Given the description of an element on the screen output the (x, y) to click on. 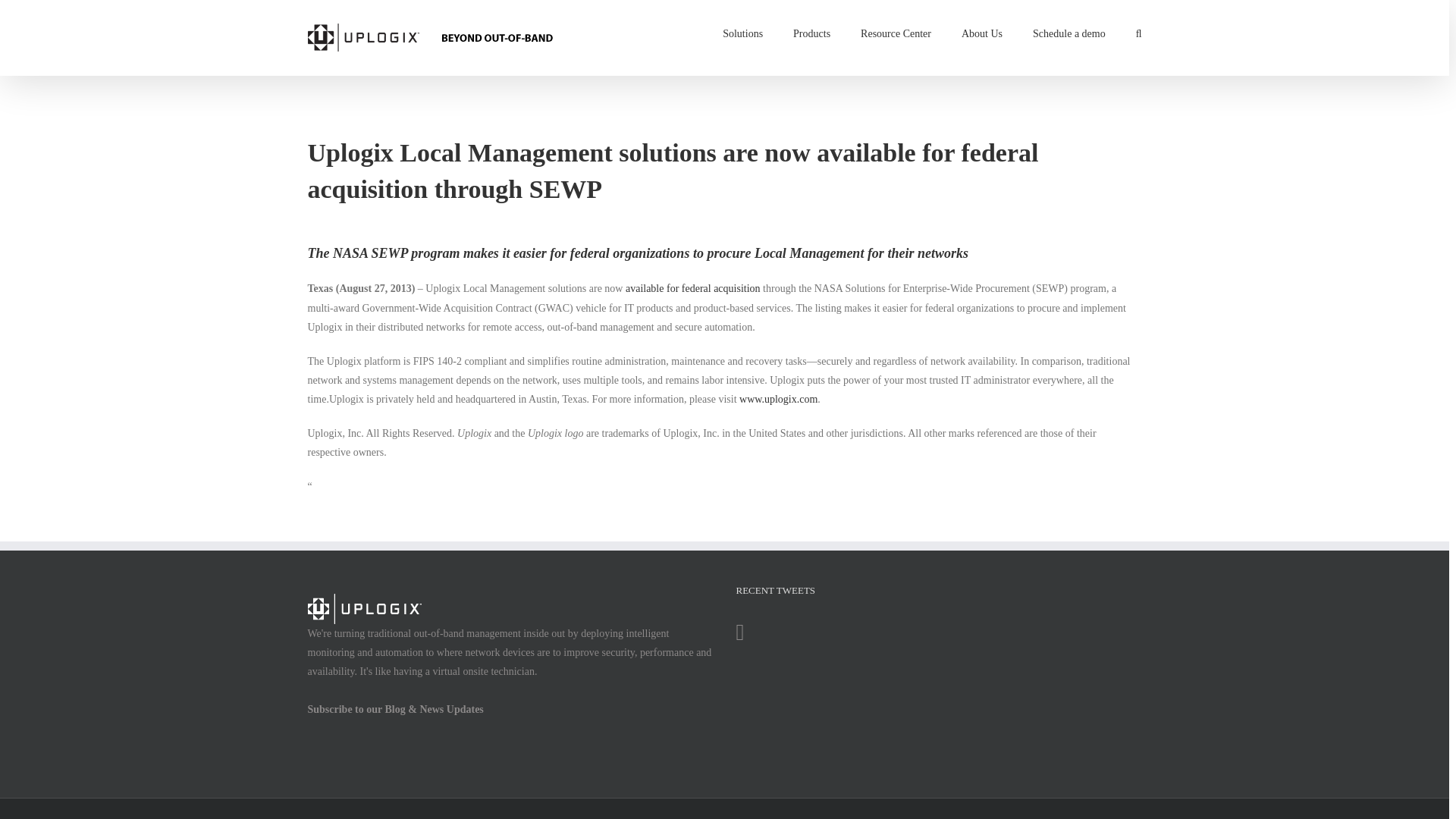
Solutions (742, 32)
Products (811, 32)
Resource Center (895, 32)
